Given the description of an element on the screen output the (x, y) to click on. 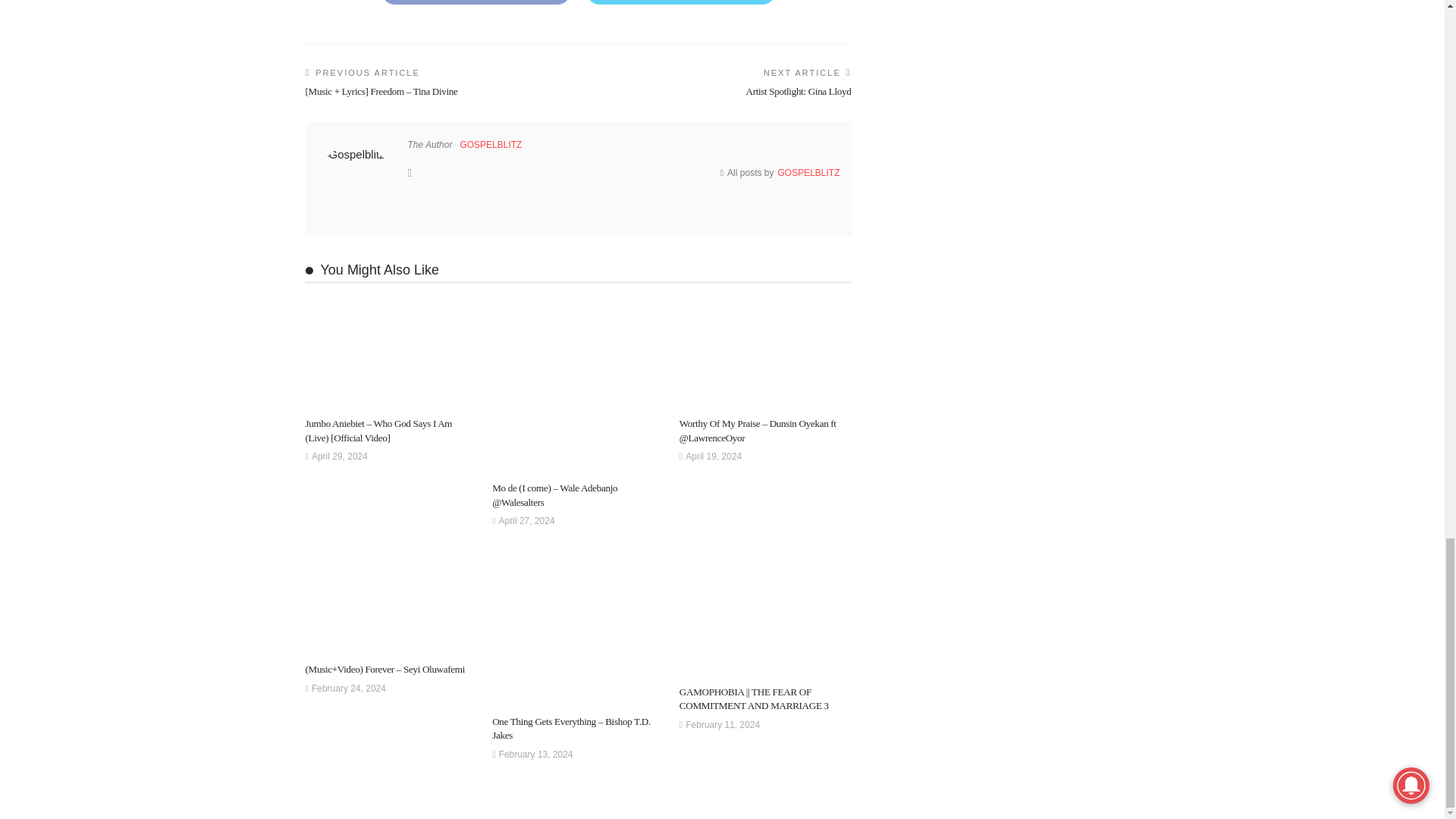
Artist Spotlight: Gina Lloyd (797, 91)
